Given the description of an element on the screen output the (x, y) to click on. 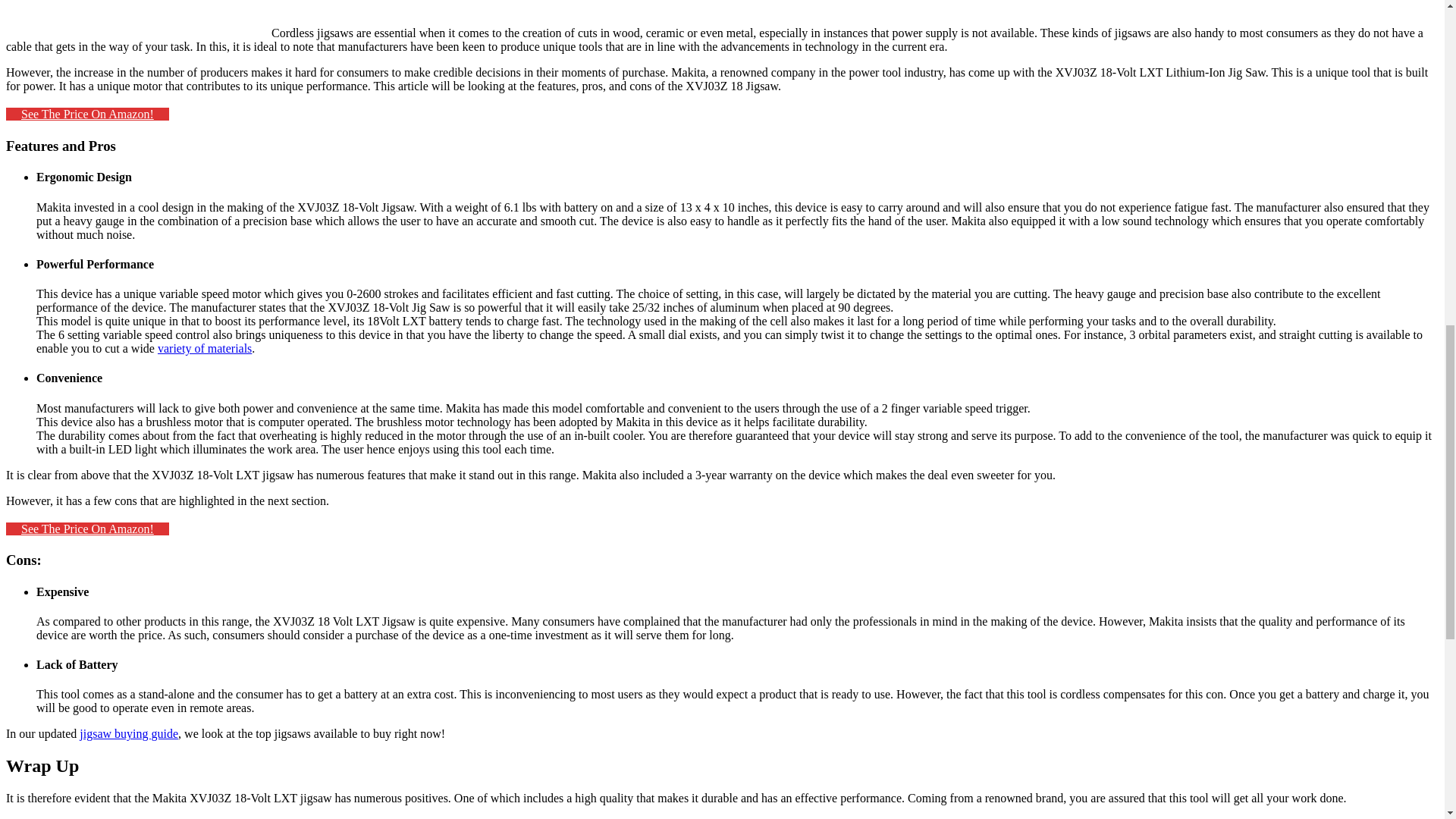
variety of materials (204, 348)
jigsaw buying guide (128, 733)
See The Price On Amazon! (86, 113)
See The Price On Amazon! (86, 528)
